Given the description of an element on the screen output the (x, y) to click on. 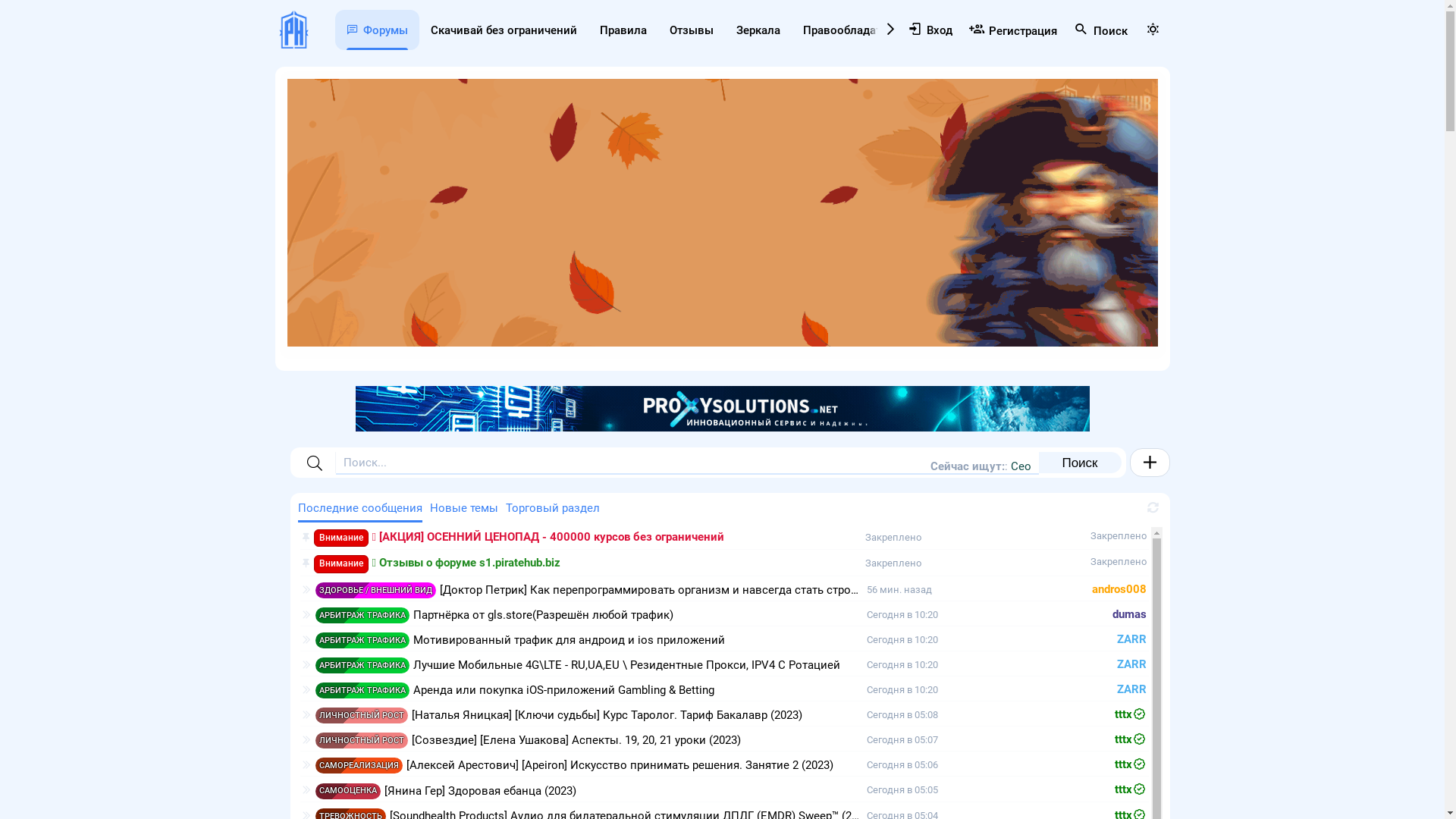
tttx Element type: text (1130, 739)
tttx Element type: text (1130, 764)
dumas Element type: text (1128, 614)
ZARR Element type: text (1130, 664)
ZARR Element type: text (1130, 639)
ZARR Element type: text (1130, 689)
tttx Element type: text (1130, 789)
andros008 Element type: text (1119, 589)
tttx Element type: text (1130, 714)
